Given the description of an element on the screen output the (x, y) to click on. 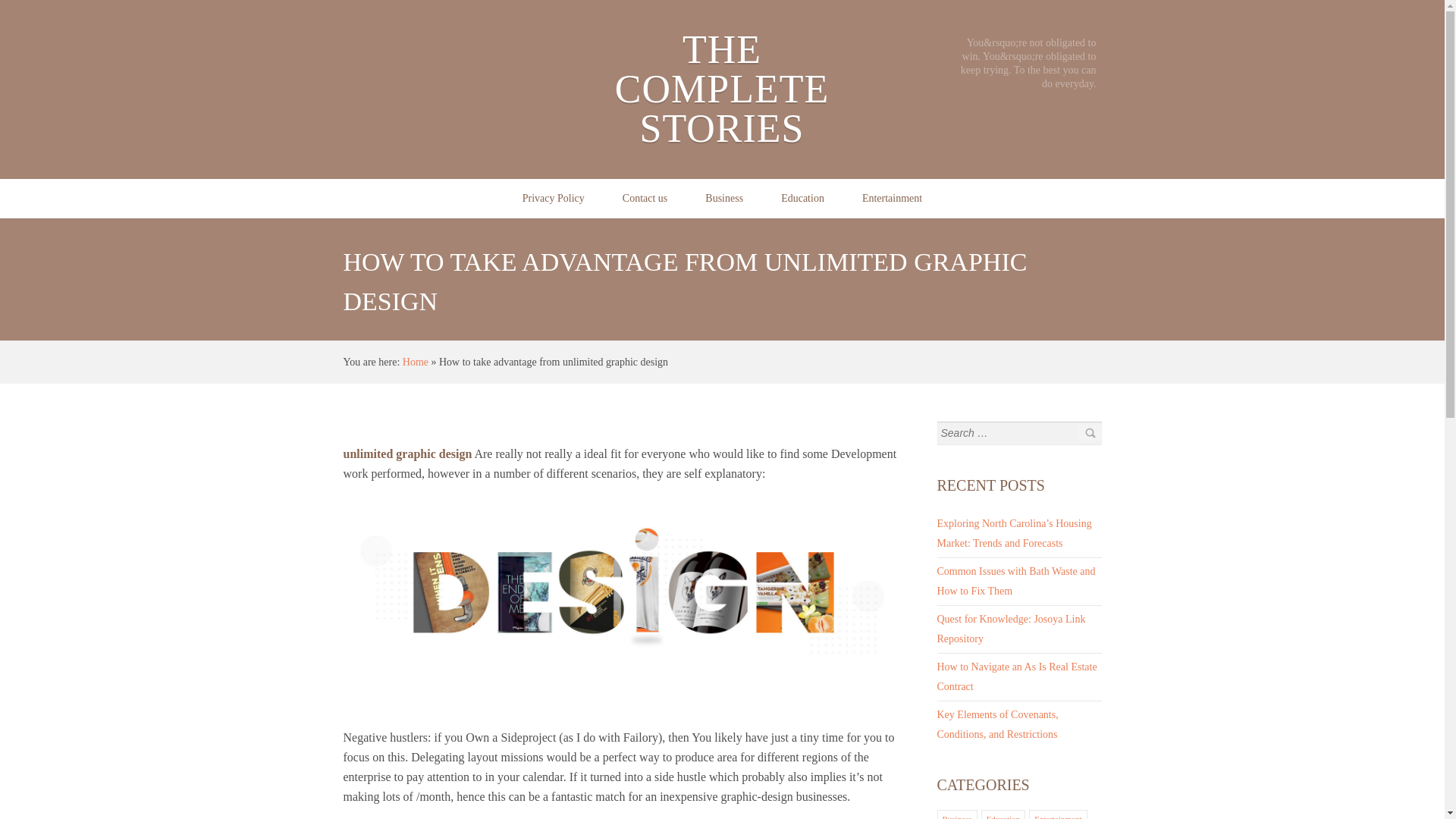
Key Elements of Covenants, Conditions, and Restrictions (997, 724)
Home (415, 361)
The Complete Stories (415, 361)
unlimited graphic design (406, 453)
Search for: (1006, 432)
THE COMPLETE STORIES (721, 88)
Search (1089, 432)
Business (723, 198)
Education (1003, 816)
Entertainment (891, 198)
